Given the description of an element on the screen output the (x, y) to click on. 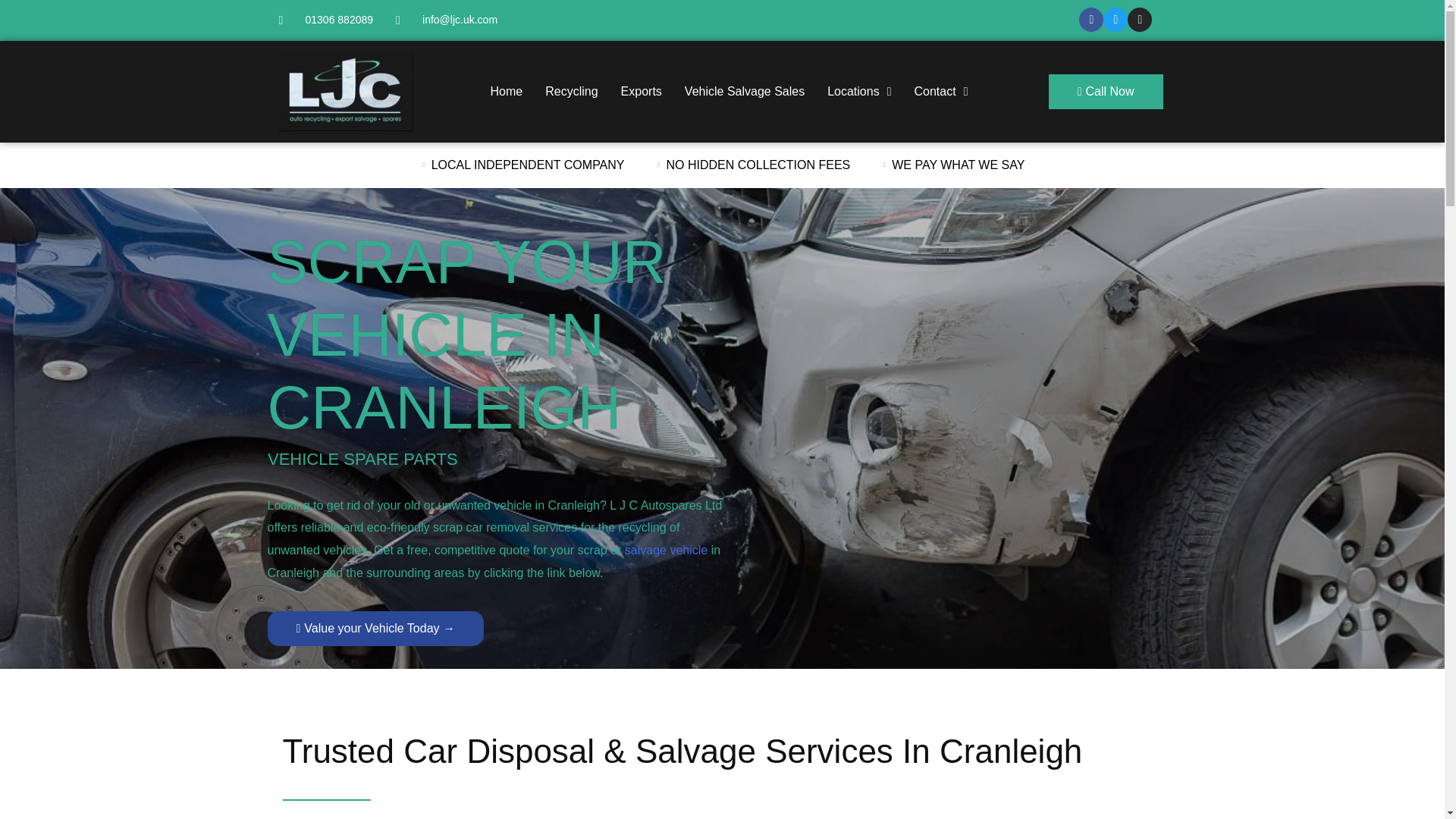
Exports (641, 91)
Locations (859, 91)
Home (506, 91)
Vehicle Salvage Sales (744, 91)
Contact (941, 91)
Recycling (570, 91)
01306 882089 (326, 20)
